Given the description of an element on the screen output the (x, y) to click on. 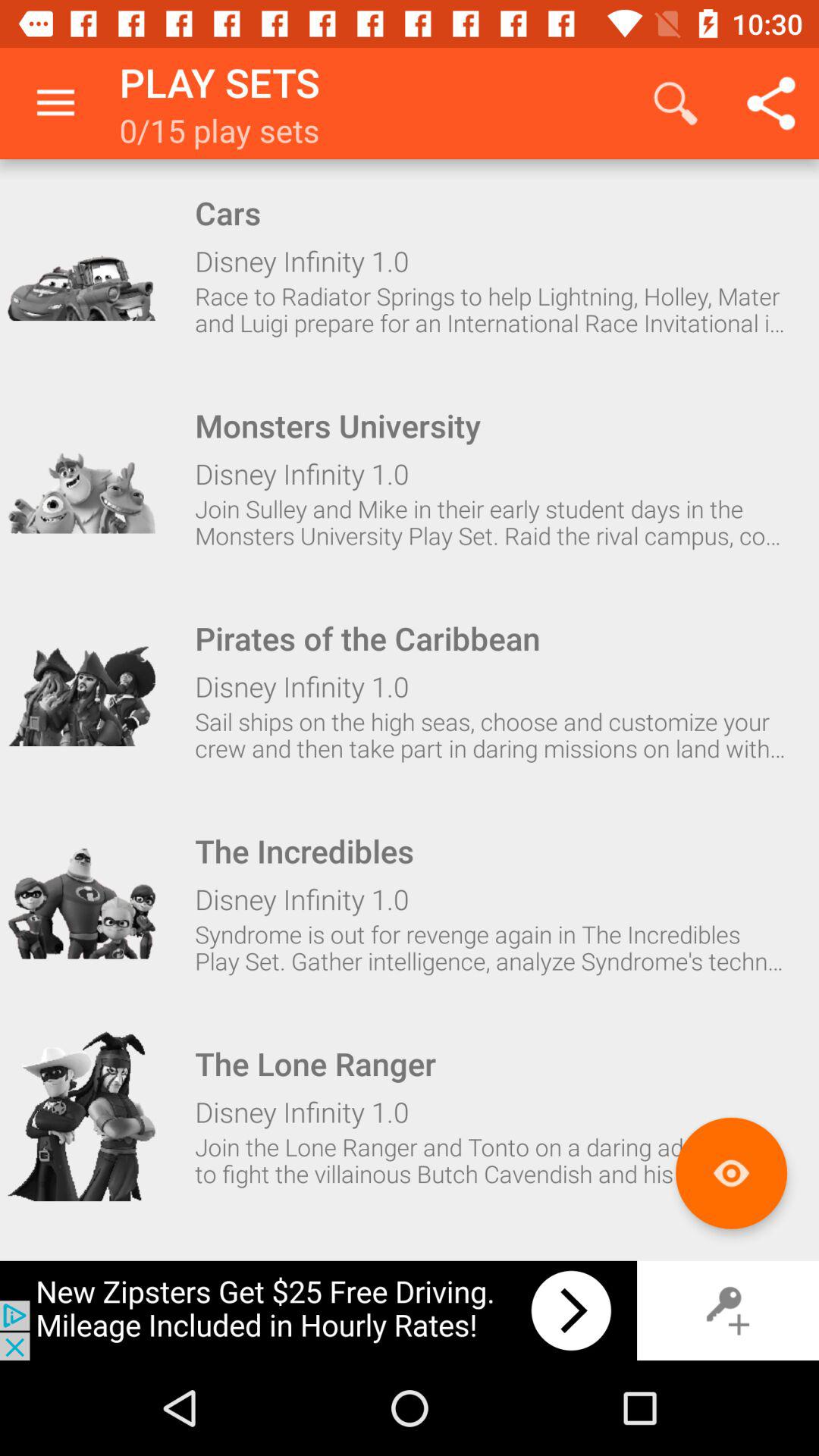
click to follow (81, 477)
